Given the description of an element on the screen output the (x, y) to click on. 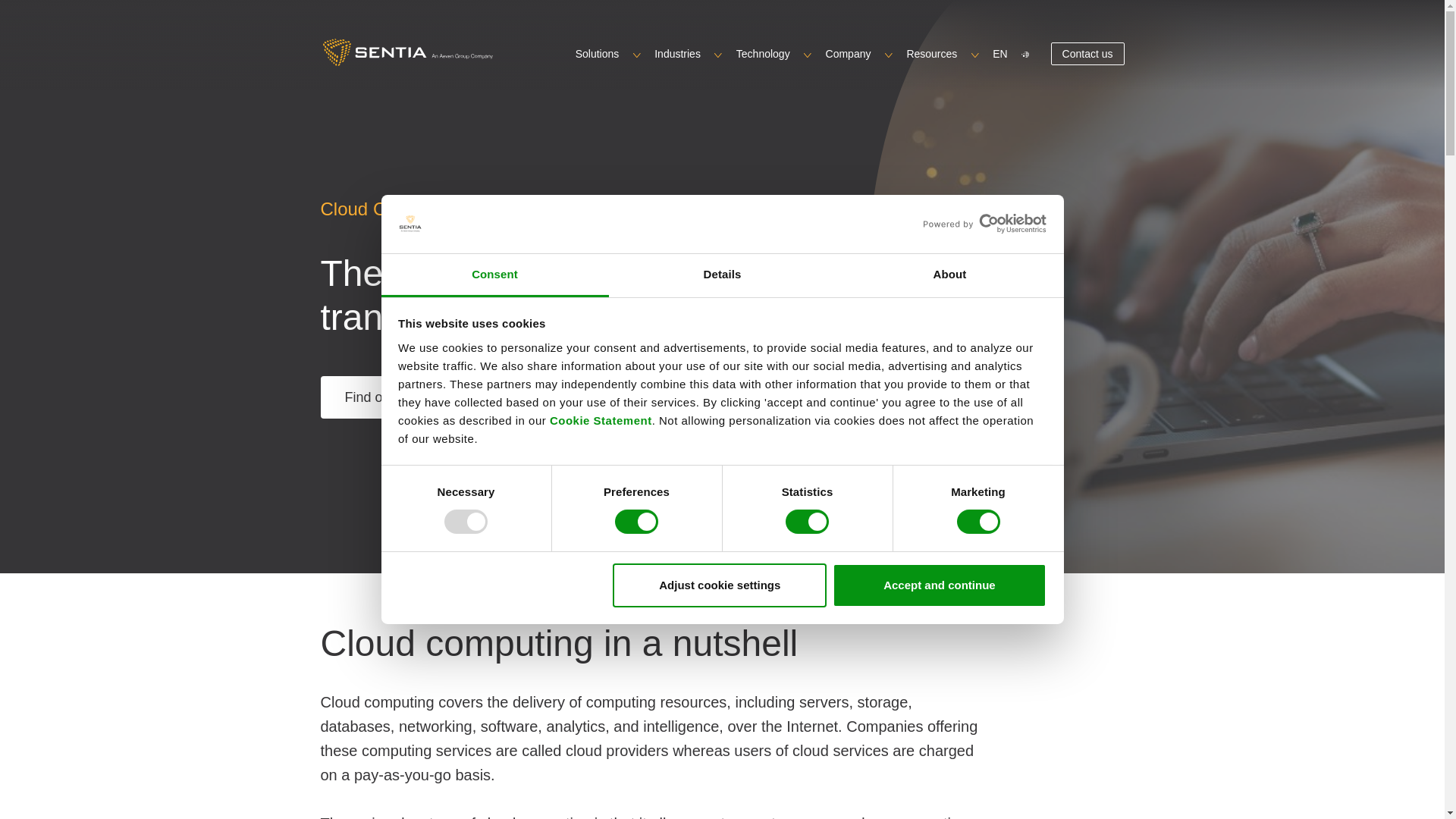
About (948, 275)
Details (721, 275)
Cookie Statement (601, 420)
Consent (494, 275)
